Given the description of an element on the screen output the (x, y) to click on. 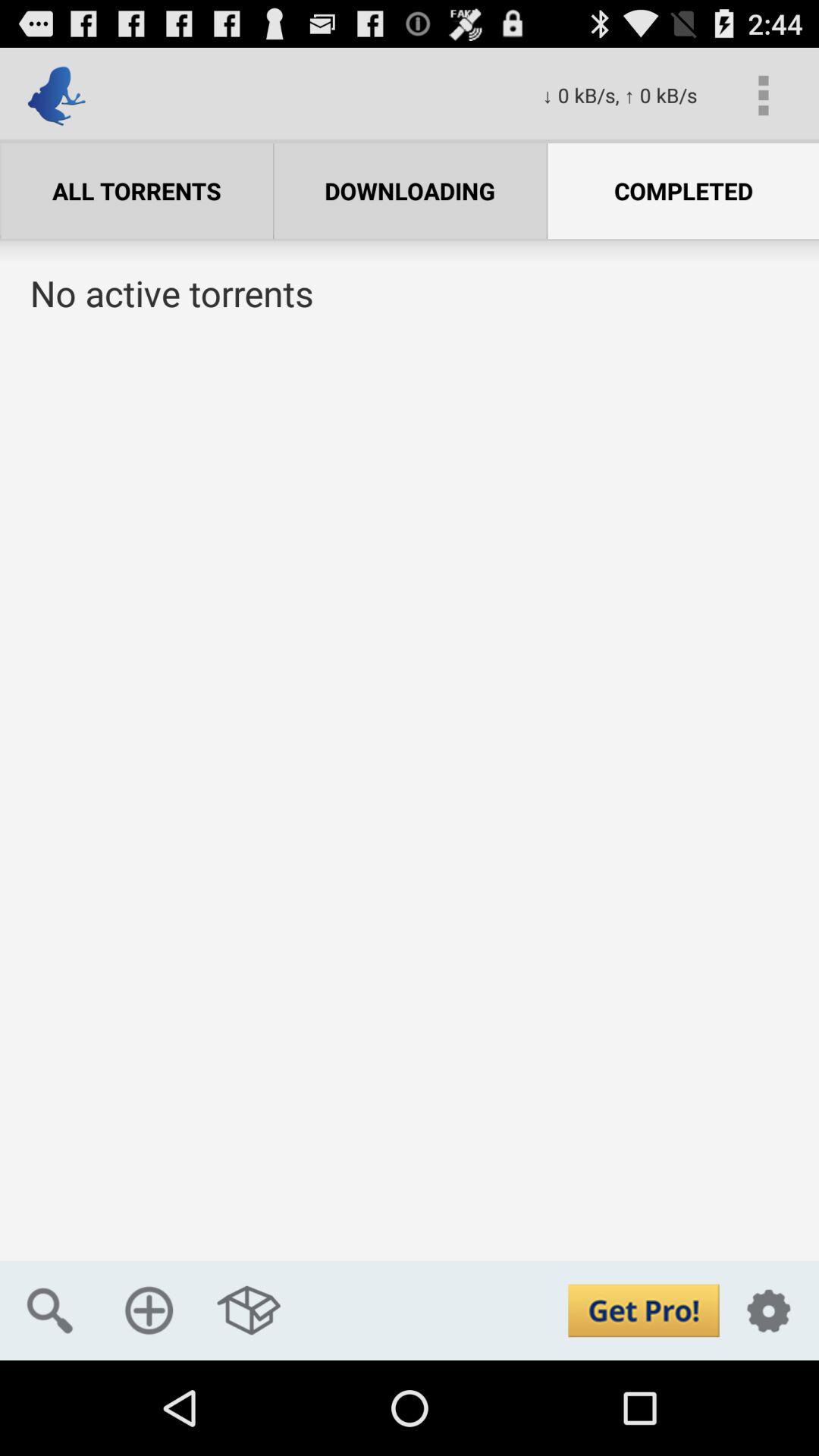
torrent list (409, 803)
